Given the description of an element on the screen output the (x, y) to click on. 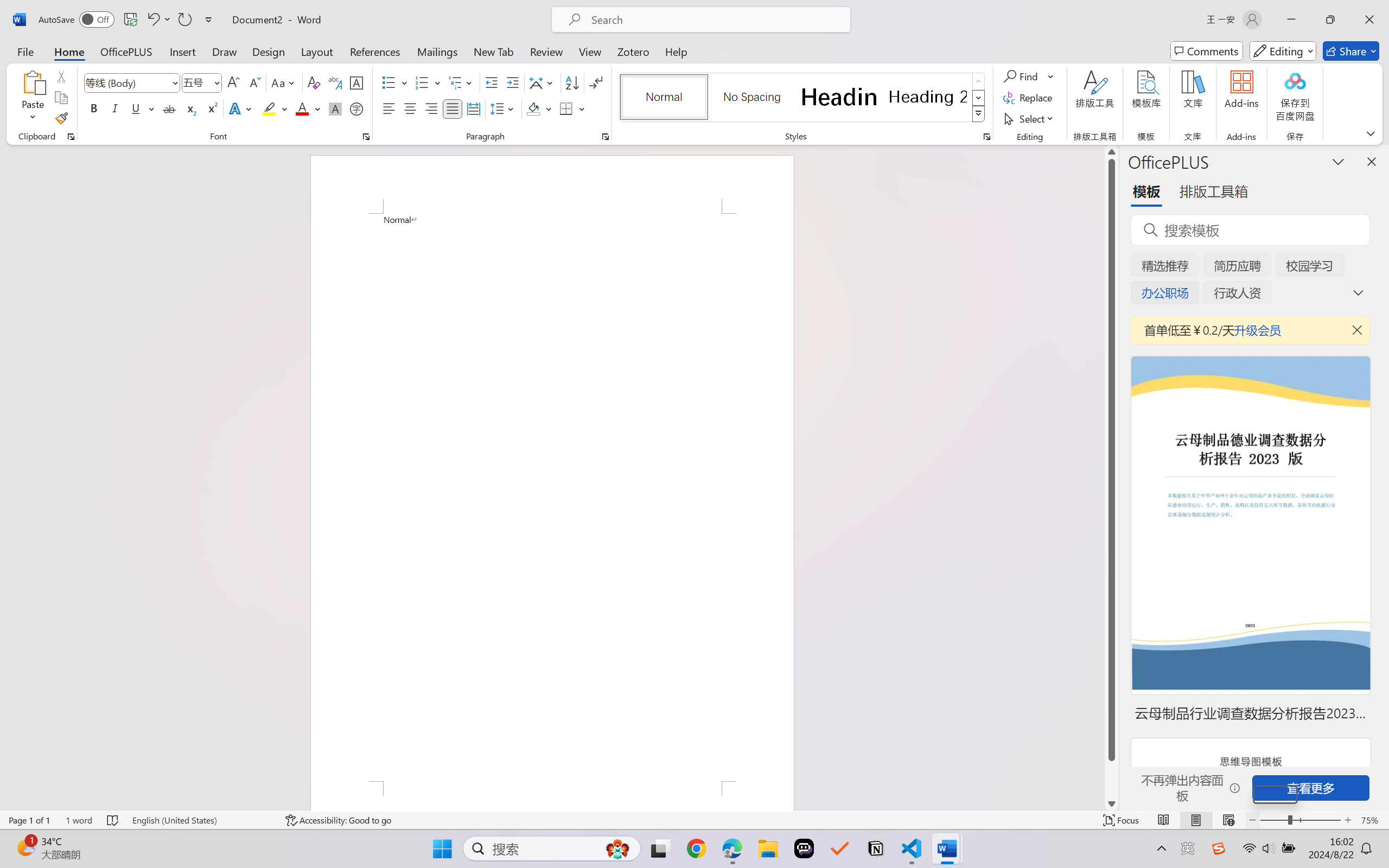
Decrease Indent (491, 82)
AutomationID: DynamicSearchBoxGleamImage (617, 848)
Styles... (986, 136)
Copy (60, 97)
Phonetic Guide... (334, 82)
Justify (452, 108)
Increase Indent (512, 82)
Open (215, 82)
Save (130, 19)
Strikethrough (169, 108)
Page Number Page 1 of 1 (29, 819)
